Given the description of an element on the screen output the (x, y) to click on. 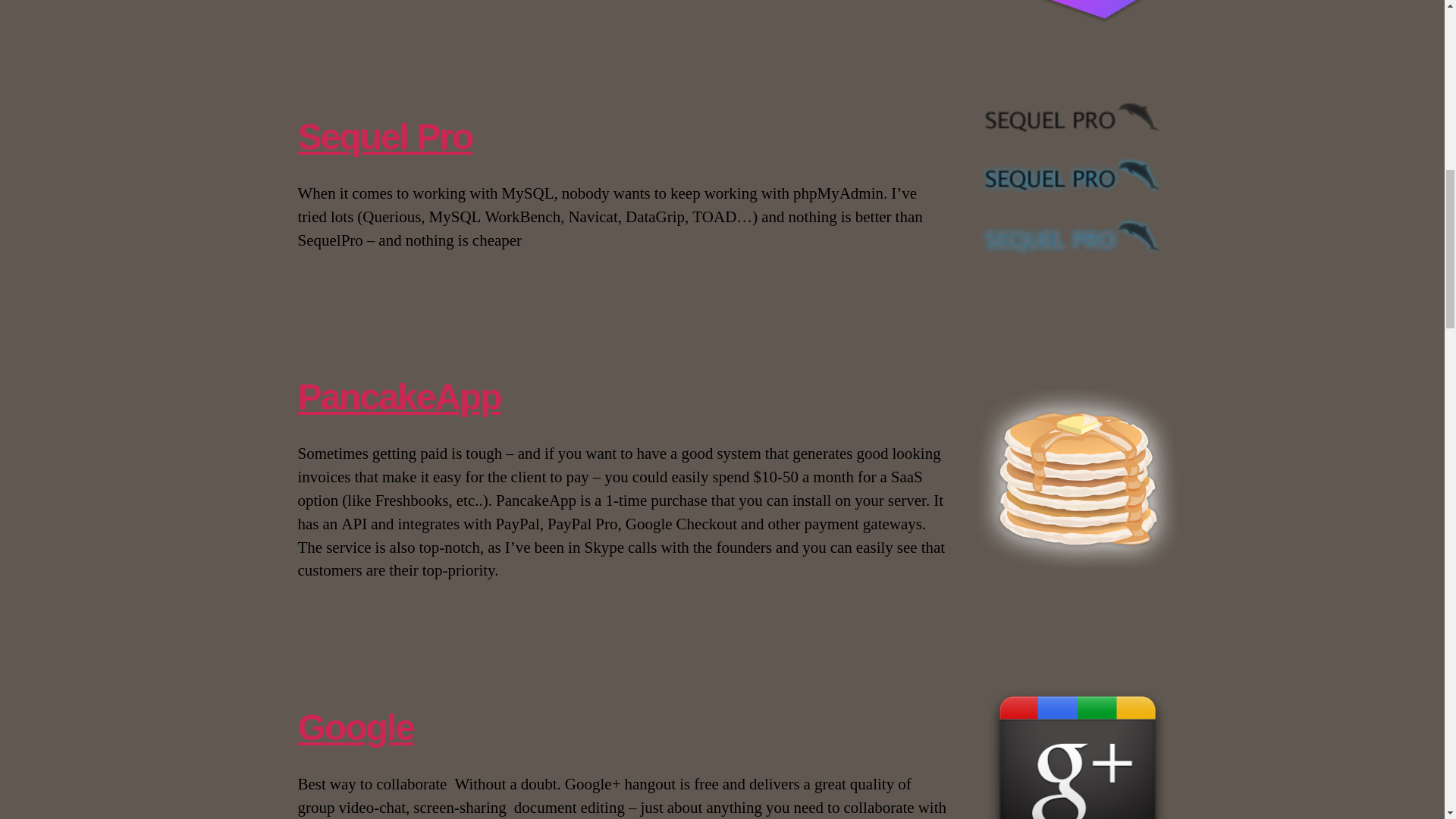
PancakeApp (398, 396)
Sequel Pro (384, 137)
Google (355, 727)
